Given the description of an element on the screen output the (x, y) to click on. 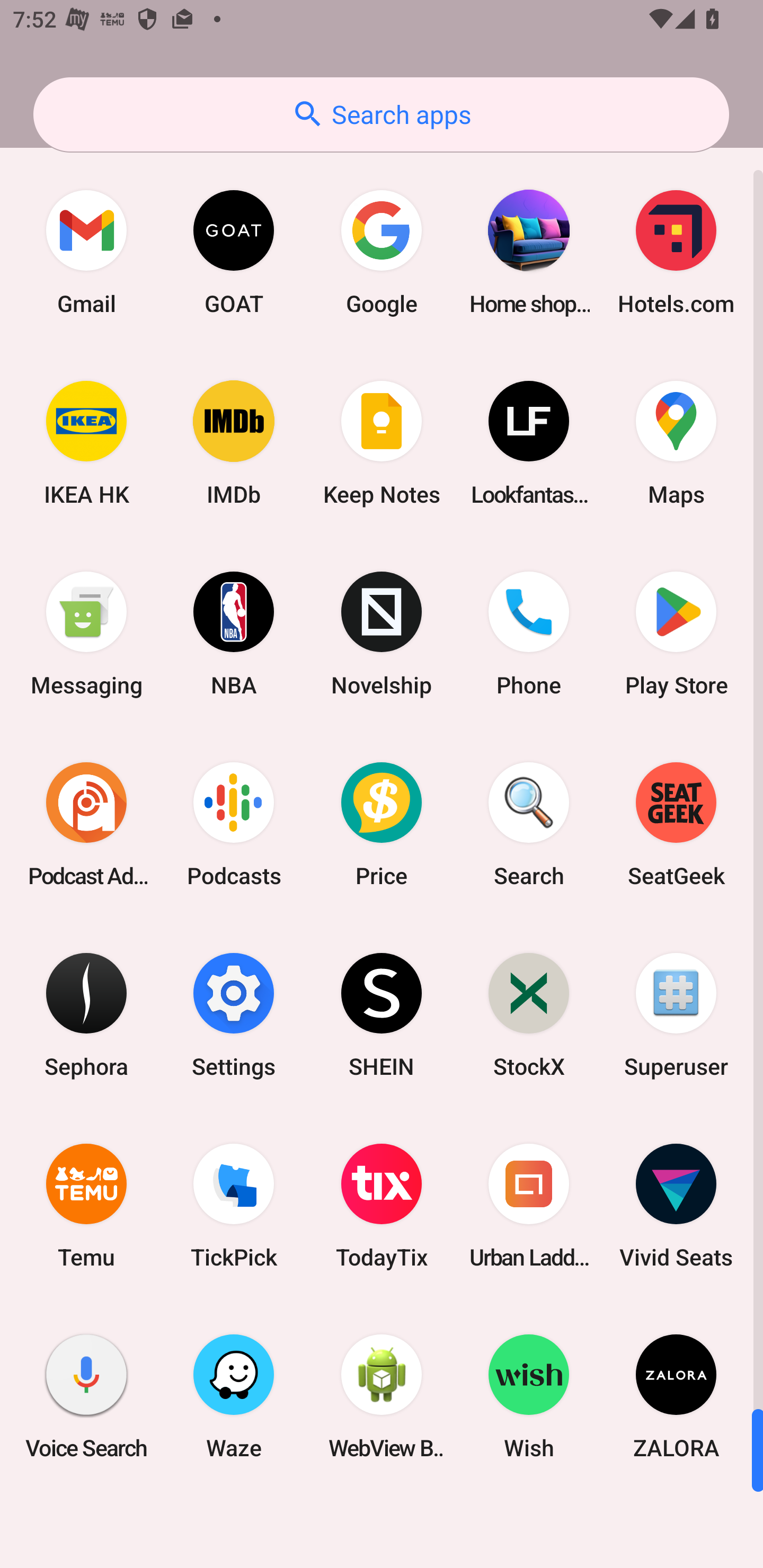
  Search apps (381, 114)
Gmail (86, 252)
GOAT (233, 252)
Google (381, 252)
Home shopping (528, 252)
Hotels.com (676, 252)
IKEA HK (86, 442)
IMDb (233, 442)
Keep Notes (381, 442)
Lookfantastic (528, 442)
Maps (676, 442)
Messaging (86, 633)
NBA (233, 633)
Novelship (381, 633)
Phone (528, 633)
Play Store (676, 633)
Podcast Addict (86, 823)
Podcasts (233, 823)
Price (381, 823)
Search (528, 823)
SeatGeek (676, 823)
Sephora (86, 1014)
Settings (233, 1014)
SHEIN (381, 1014)
StockX (528, 1014)
Superuser (676, 1014)
Temu (86, 1205)
TickPick (233, 1205)
TodayTix (381, 1205)
Urban Ladder (528, 1205)
Vivid Seats (676, 1205)
Voice Search (86, 1396)
Waze (233, 1396)
WebView Browser Tester (381, 1396)
Wish (528, 1396)
ZALORA (676, 1396)
